Given the description of an element on the screen output the (x, y) to click on. 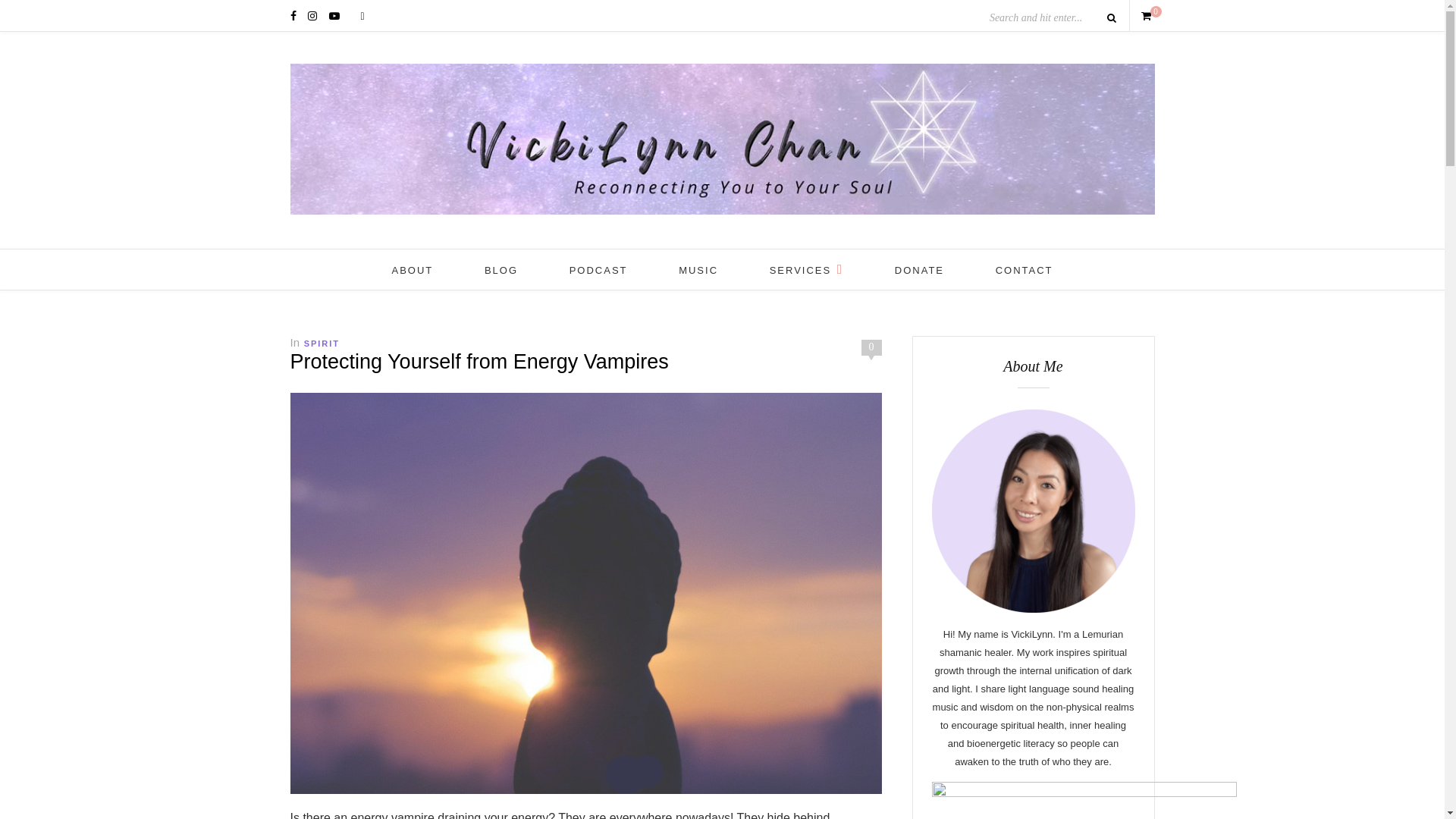
MUSIC (697, 270)
0 (1147, 15)
CONTACT (1023, 270)
View your shopping cart (1147, 15)
DONATE (919, 270)
PODCAST (598, 270)
ABOUT (411, 270)
SPIRIT (321, 343)
SERVICES (807, 270)
